Given the description of an element on the screen output the (x, y) to click on. 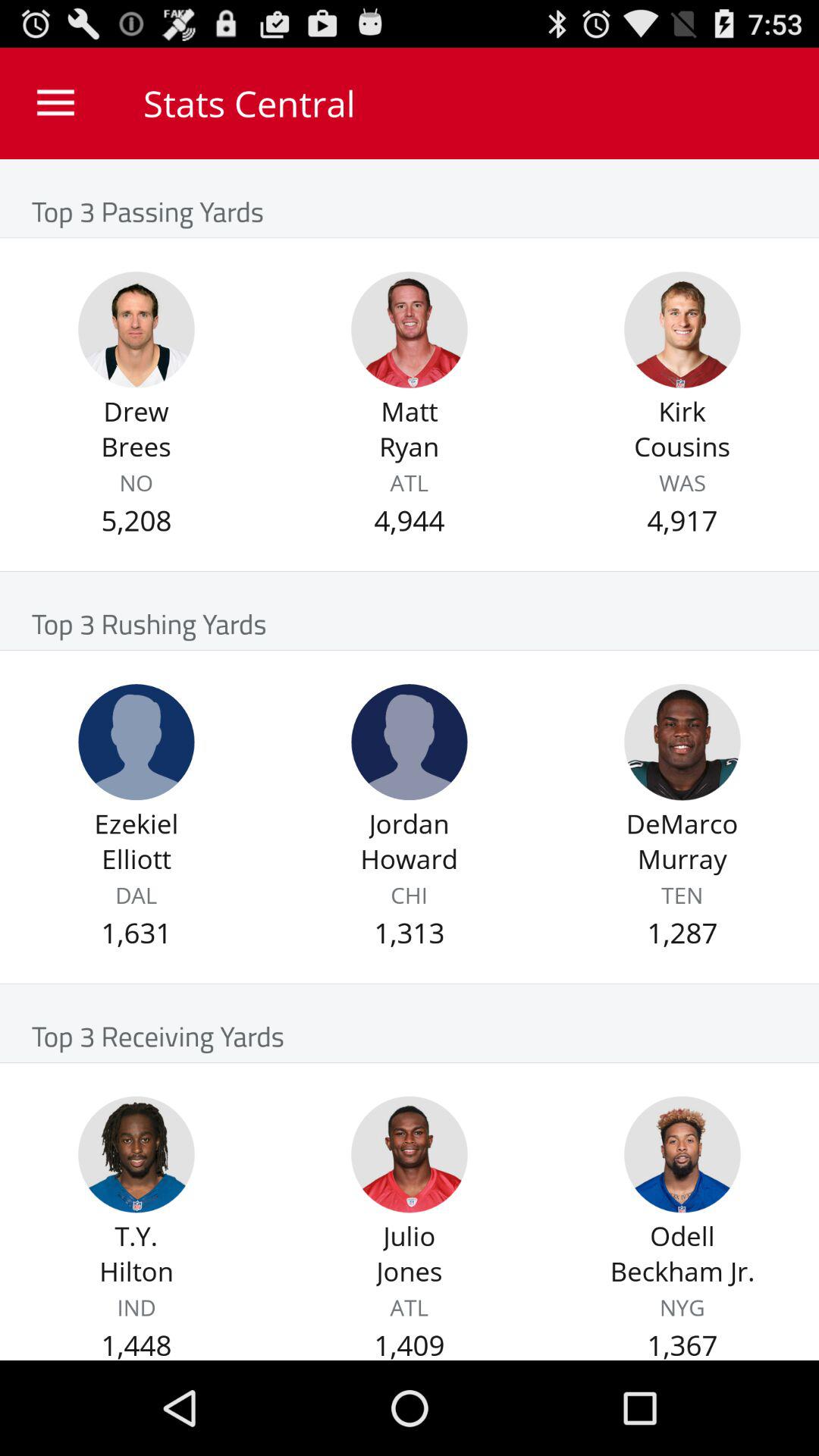
select the person (409, 329)
